Given the description of an element on the screen output the (x, y) to click on. 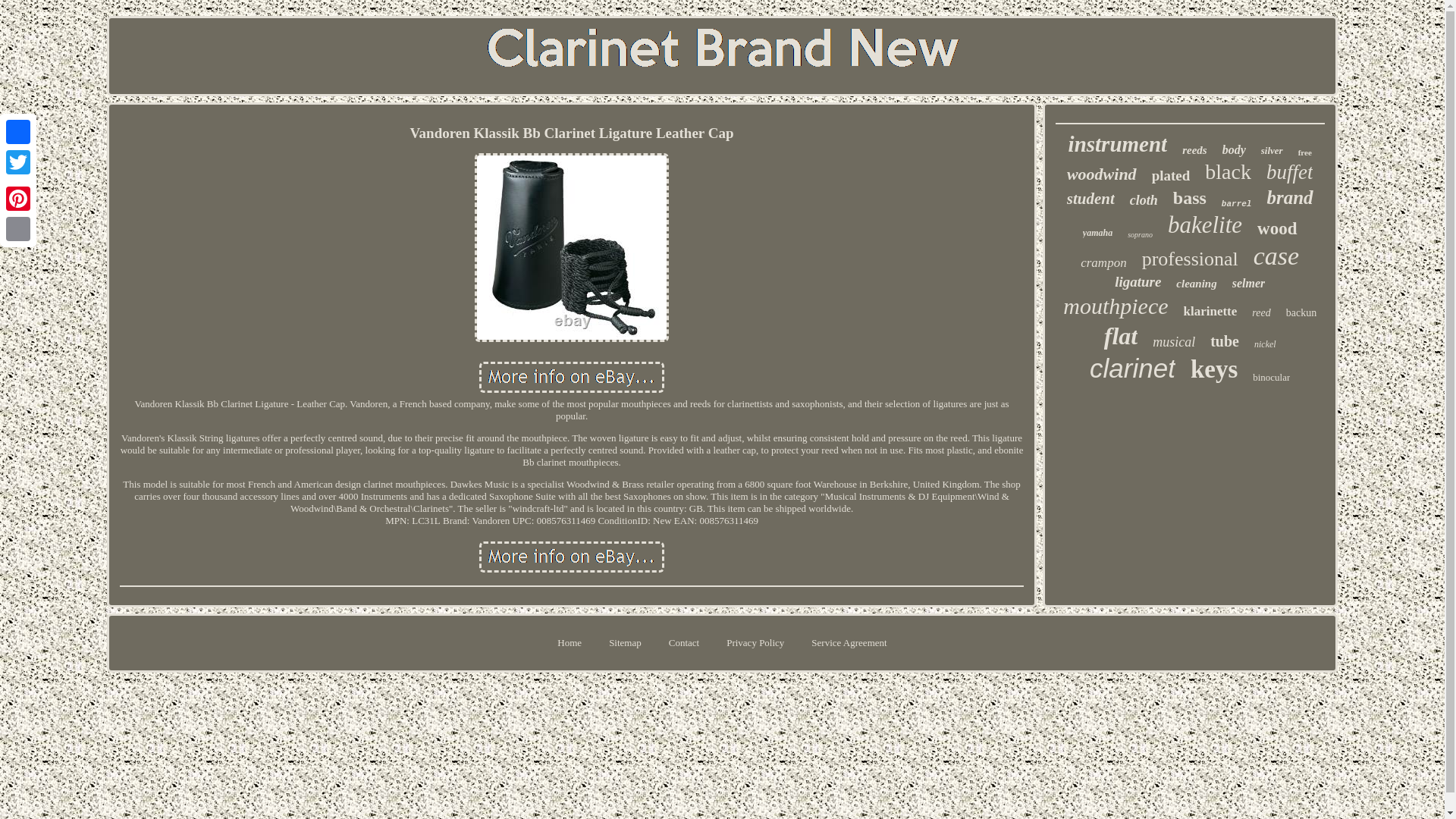
Vandoren Klassik Bb Clarinet Ligature Leather Cap (571, 247)
body (1234, 150)
reeds (1194, 150)
reed (1260, 313)
black (1227, 171)
ligature (1137, 281)
plated (1171, 175)
Twitter (17, 162)
cloth (1143, 200)
bass (1190, 198)
buffet (1289, 172)
student (1091, 198)
instrument (1117, 144)
free (1304, 152)
professional (1190, 259)
